Given the description of an element on the screen output the (x, y) to click on. 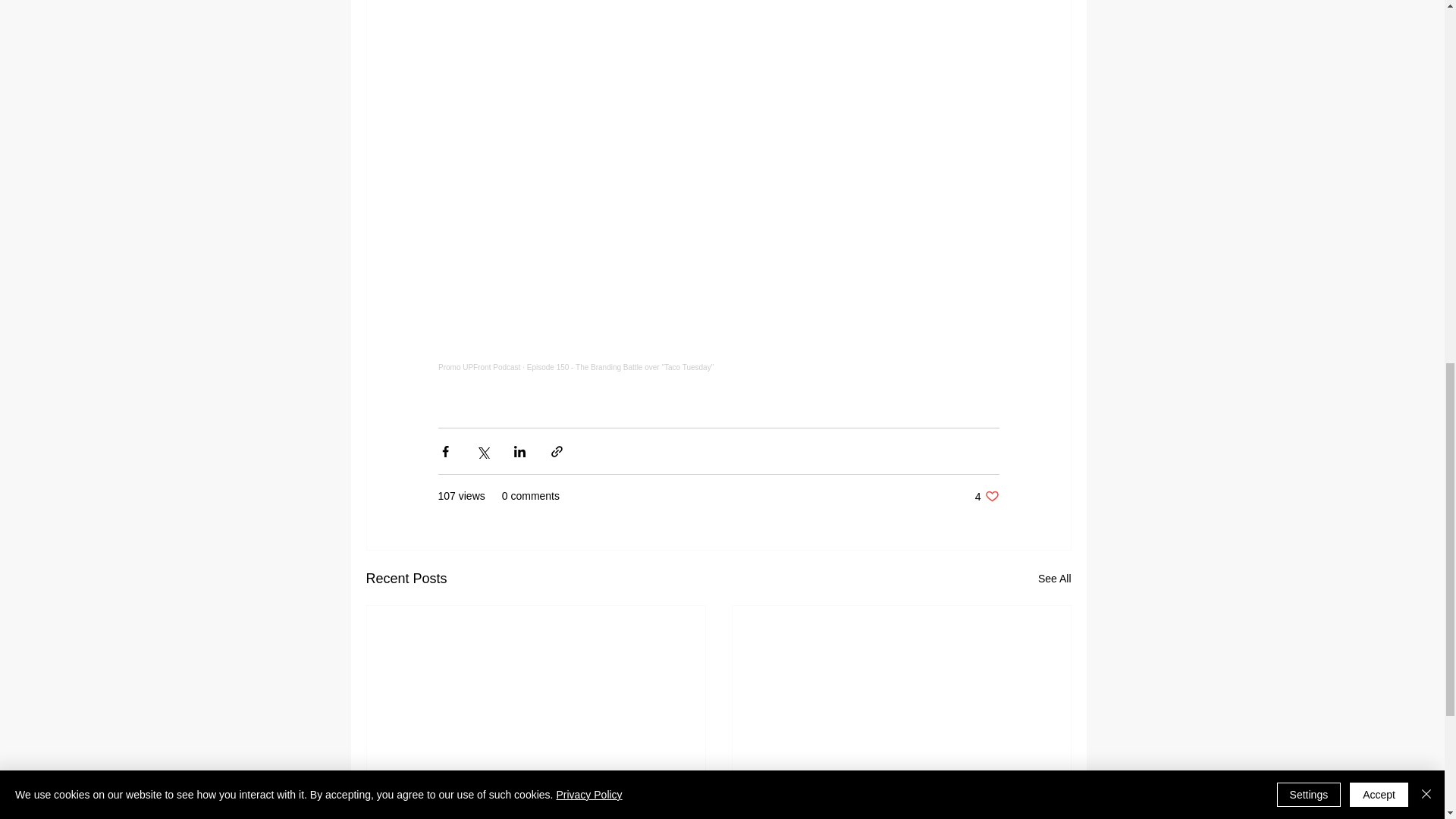
Promo UPFront Podcast - Ep. 211 (536, 816)
See All (1054, 578)
A Modern Sales Manifesto (986, 495)
remote content (901, 816)
